Given the description of an element on the screen output the (x, y) to click on. 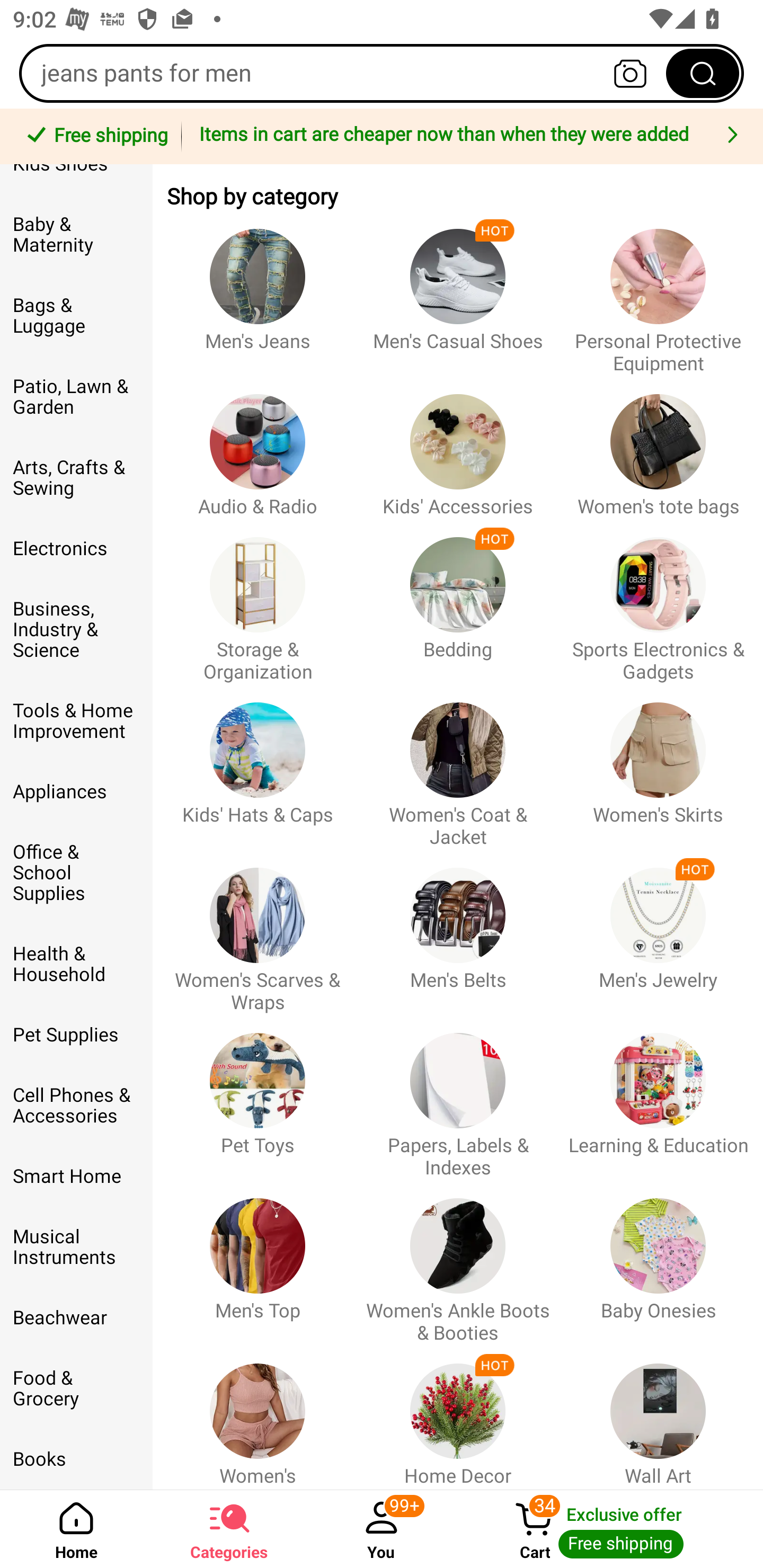
jeans pants for men (381, 73)
 Free shipping (93, 136)
Baby & Maternity (76, 234)
Men's Jeans (257, 292)
Men's Casual Shoes (457, 292)
Personal Protective Equipment (657, 292)
Bags & Luggage (76, 315)
Patio, Lawn & Garden (76, 396)
Audio & Radio (257, 445)
Kids' Accessories (457, 445)
Women's tote bags (657, 445)
Arts, Crafts & Sewing (76, 478)
Storage & Organization (257, 600)
Bedding (457, 600)
Sports Electronics & Gadgets (657, 600)
Electronics (76, 548)
Business, Industry & Science (76, 629)
Tools & Home Improvement (76, 721)
Kids' Hats & Caps (257, 765)
Women's Coat & Jacket (457, 765)
Women's Skirts (657, 765)
Appliances (76, 791)
Office & School Supplies (76, 872)
Women's Scarves & Wraps (257, 931)
Men's Belts (457, 931)
Men's Jewelry (657, 931)
Health & Household (76, 964)
Pet Supplies (76, 1034)
Pet Toys (257, 1096)
Papers, Labels & Indexes (457, 1096)
Learning & Education (657, 1096)
Cell Phones & Accessories (76, 1105)
Smart Home (76, 1176)
Men's Top (257, 1261)
Women's Ankle Boots & Booties (457, 1261)
Baby Onesies (657, 1261)
Musical Instruments (76, 1247)
Beachwear (76, 1317)
Women's Loungewear (257, 1416)
Home Decor Products (457, 1416)
Wall Art (657, 1416)
Food & Grocery (76, 1388)
Books (76, 1458)
Home (76, 1528)
Categories (228, 1528)
You ‎99+‎ You (381, 1528)
Cart 34 Cart Exclusive offer (610, 1528)
